Given the description of an element on the screen output the (x, y) to click on. 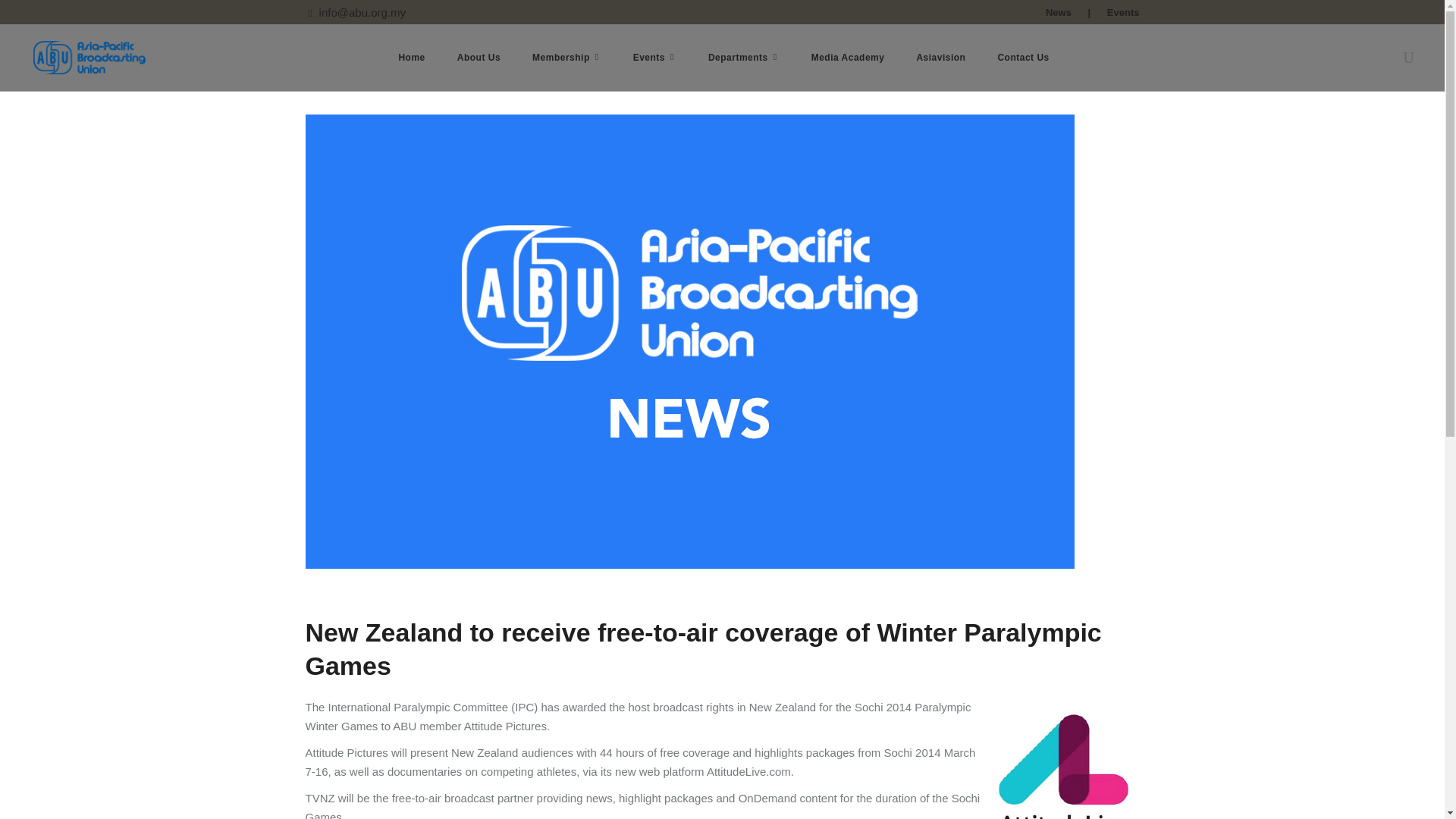
U (1072, 426)
Membership (566, 57)
News (1058, 12)
About Us (478, 57)
Asiavision (940, 57)
Contact Us (1022, 57)
Departments (743, 57)
Events (1123, 12)
Media Academy (847, 57)
Events (655, 57)
